Given the description of an element on the screen output the (x, y) to click on. 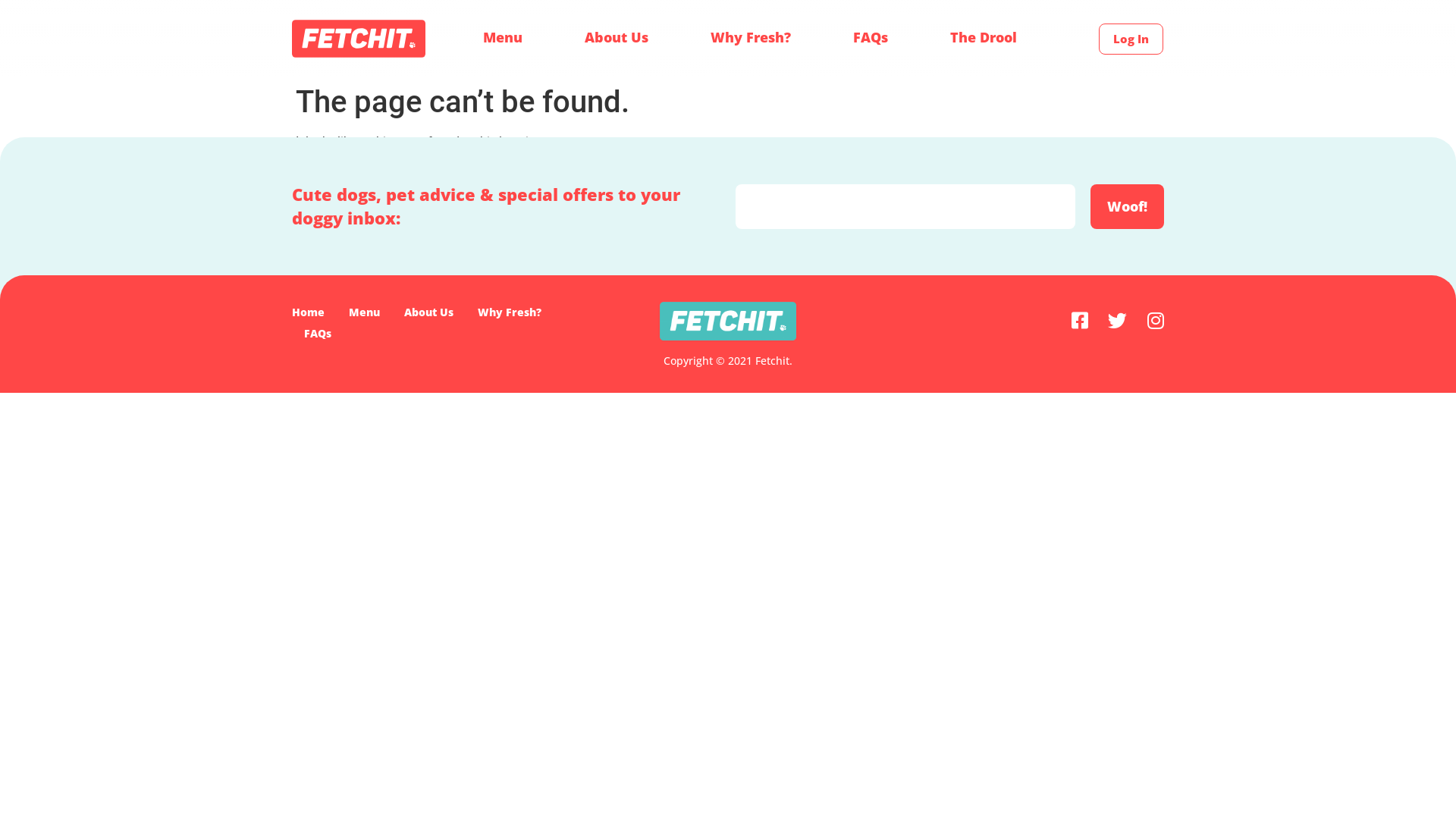
Home Element type: text (307, 312)
About Us Element type: text (616, 37)
Log In Element type: text (1130, 38)
The Drool Element type: text (983, 37)
Menu Element type: text (502, 37)
FAQs Element type: text (870, 37)
Woof! Element type: text (1127, 206)
Menu Element type: text (363, 312)
FAQs Element type: text (317, 333)
Why Fresh? Element type: text (509, 312)
About Us Element type: text (428, 312)
Why Fresh? Element type: text (750, 37)
